Given the description of an element on the screen output the (x, y) to click on. 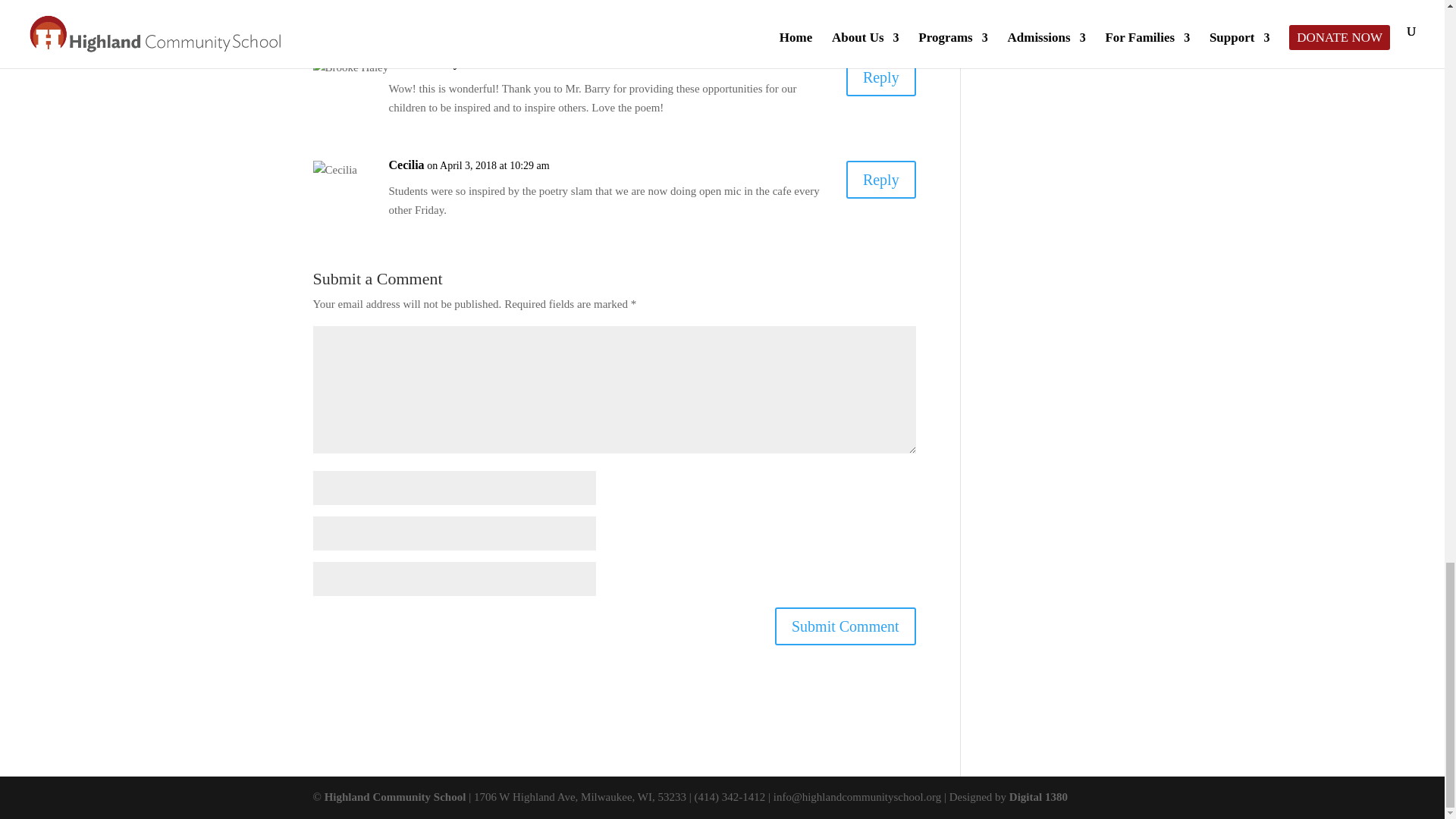
Milwaukee Digital Marketing Agency (1038, 797)
Highland Community School (394, 797)
Submit Comment (844, 626)
